Given the description of an element on the screen output the (x, y) to click on. 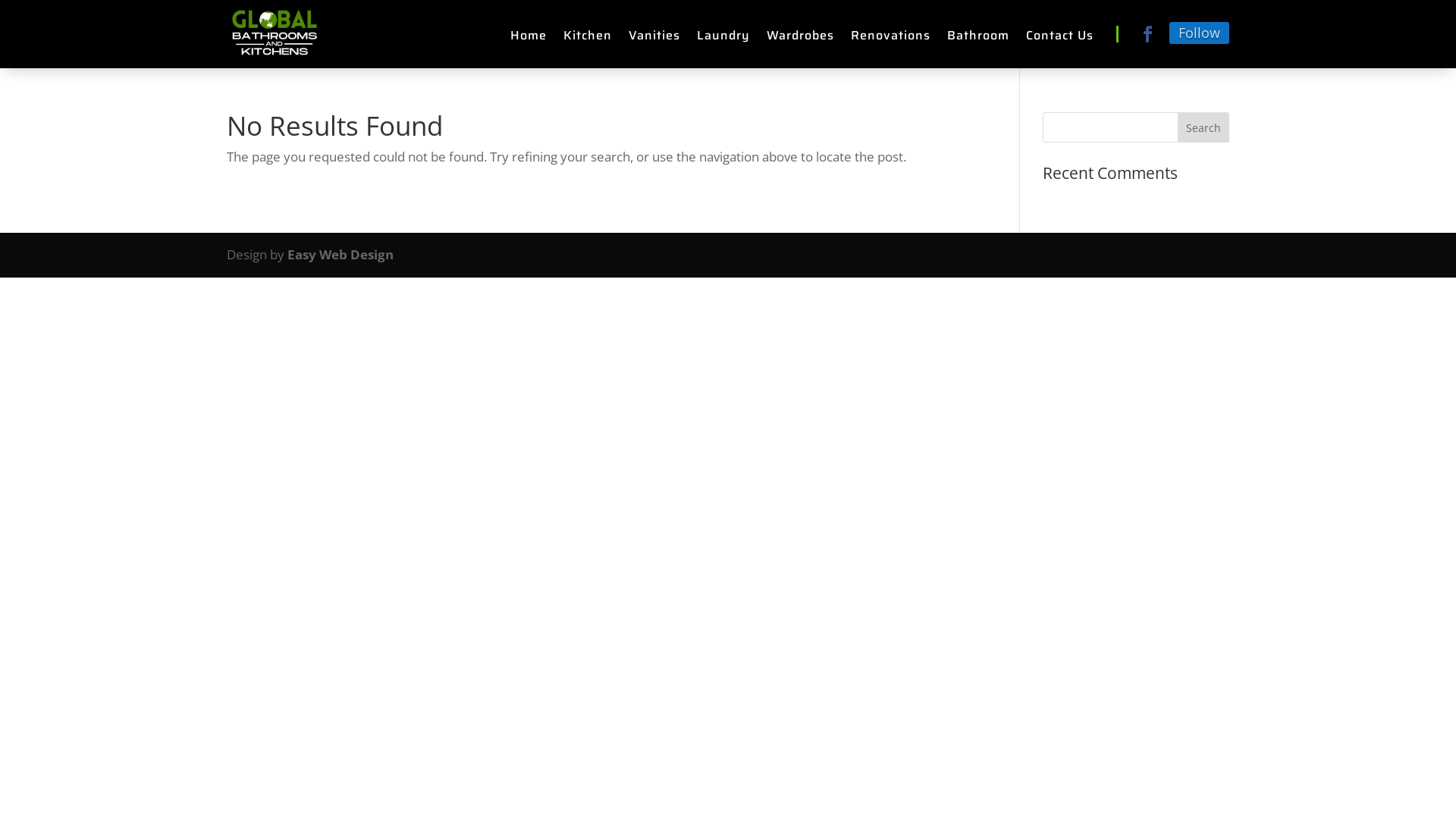
Follow Element type: text (1199, 32)
Easy Web Design Element type: text (340, 254)
logo-transparent Element type: hover (273, 33)
Home Element type: text (528, 38)
Laundry Element type: text (722, 38)
Kitchen Element type: text (587, 38)
Contact Us Element type: text (1059, 38)
Wardrobes Element type: text (800, 38)
Vanities Element type: text (654, 38)
Search Element type: text (1203, 127)
Follow on Facebook Element type: hover (1147, 34)
Bathroom Element type: text (978, 38)
Renovations Element type: text (890, 38)
